Given the description of an element on the screen output the (x, y) to click on. 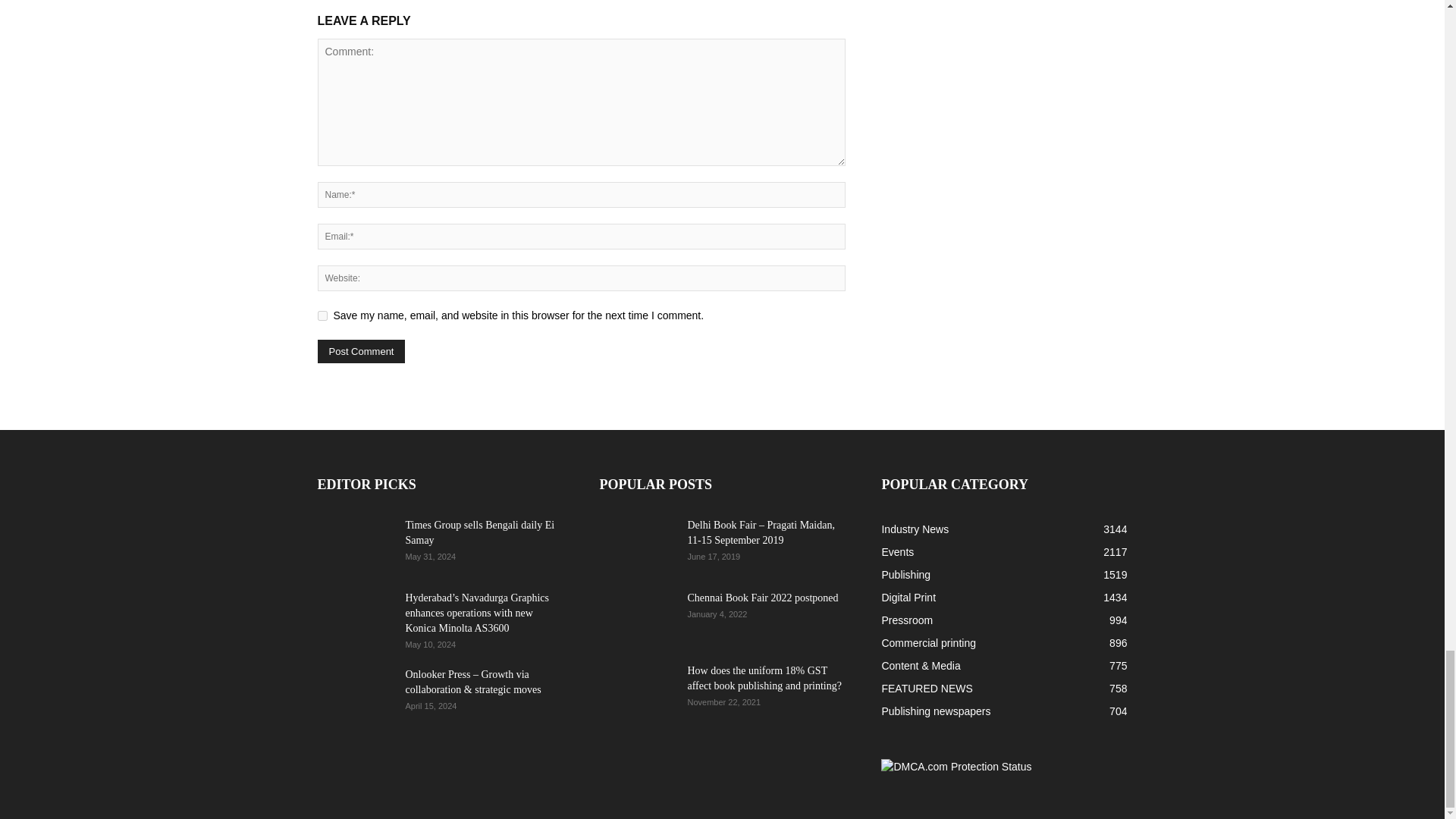
Post Comment (360, 351)
yes (321, 316)
